Given the description of an element on the screen output the (x, y) to click on. 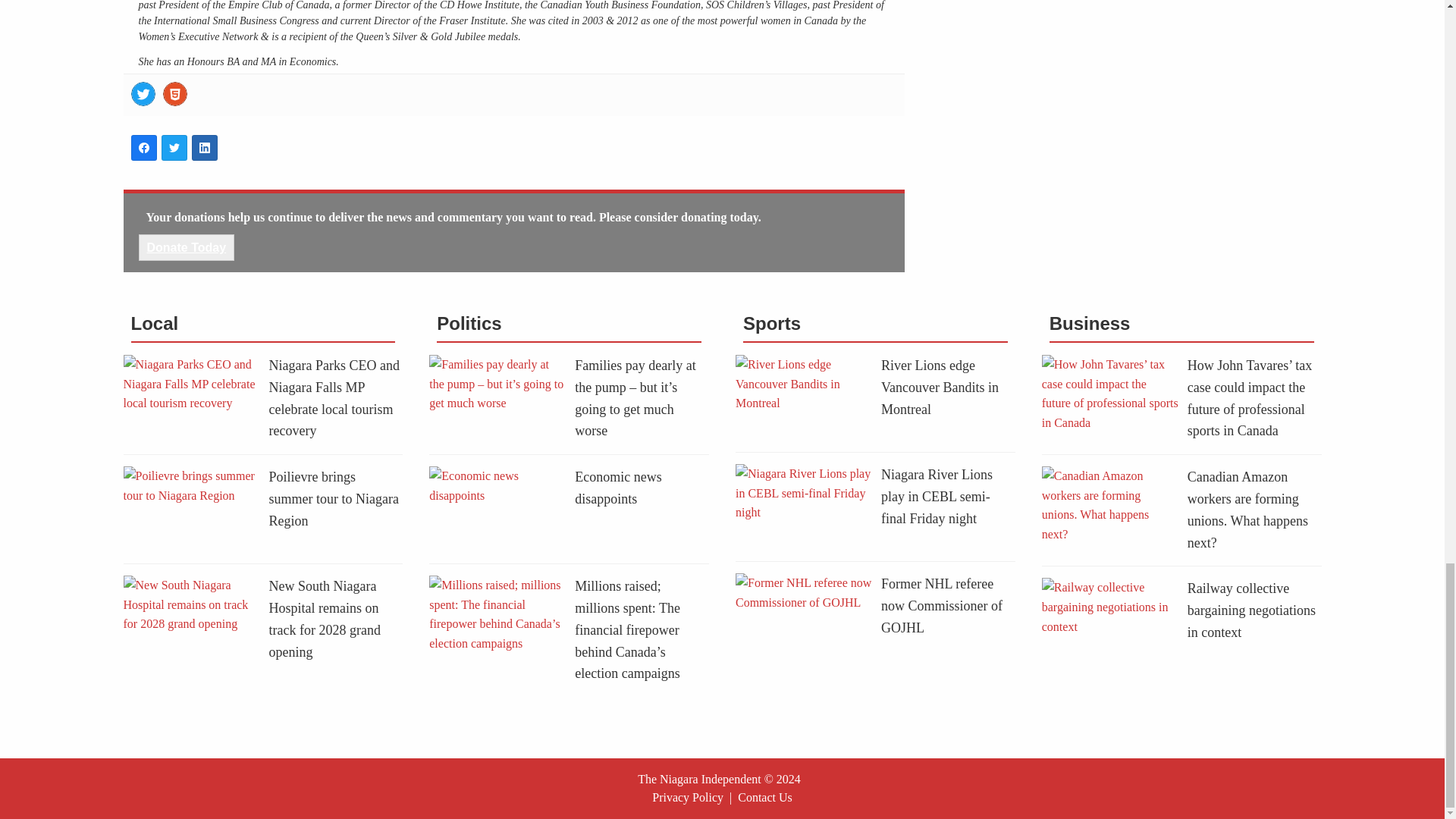
Html5 (173, 93)
Poilievre brings summer tour to Niagara Region (332, 498)
Donate Today (186, 247)
Twitter (142, 93)
